Given the description of an element on the screen output the (x, y) to click on. 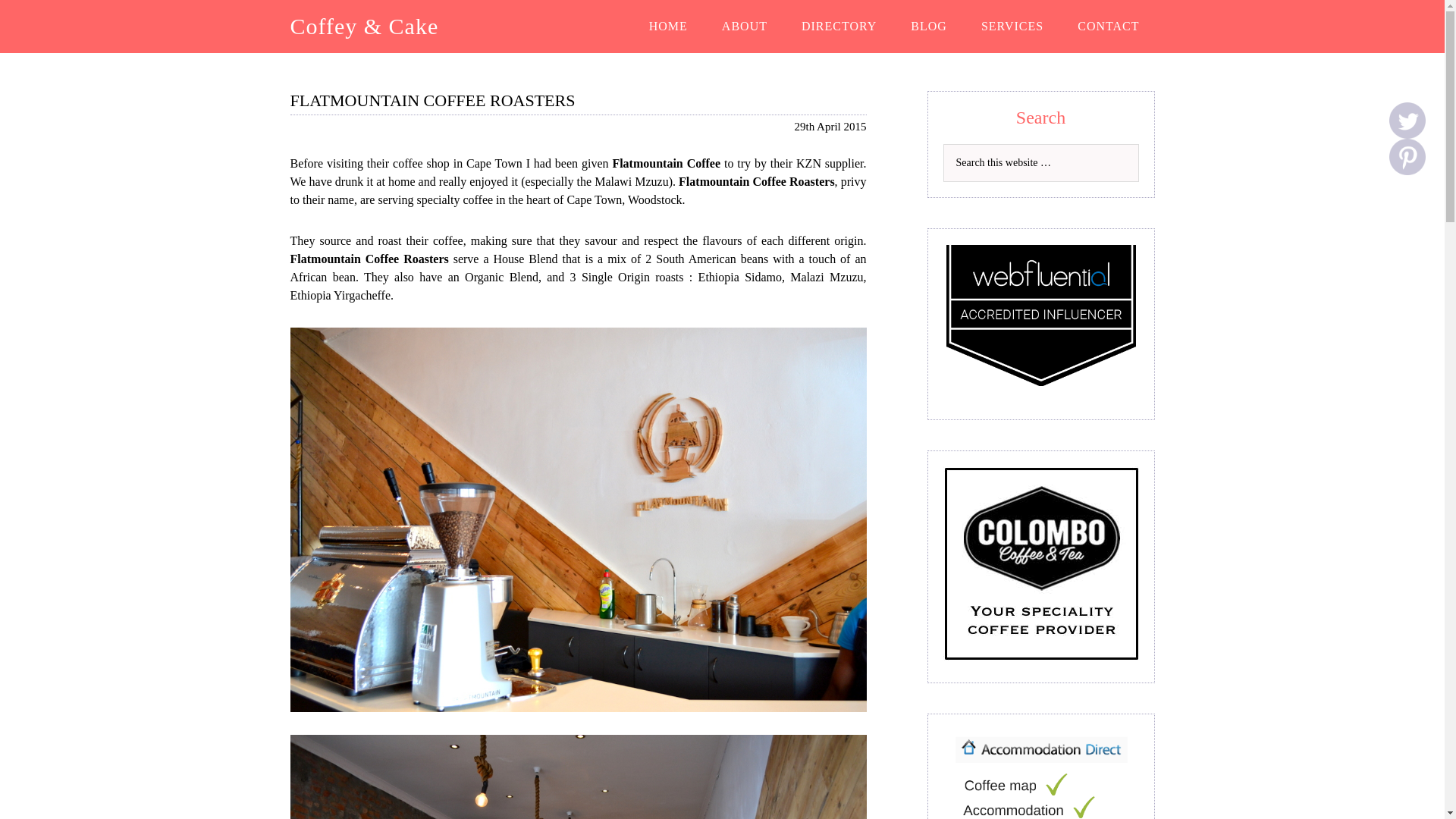
DIRECTORY (838, 26)
HOME (668, 26)
More... (1407, 156)
CONTACT (1108, 26)
SERVICES (1012, 26)
BLOG (928, 26)
ABOUT (744, 26)
